Given the description of an element on the screen output the (x, y) to click on. 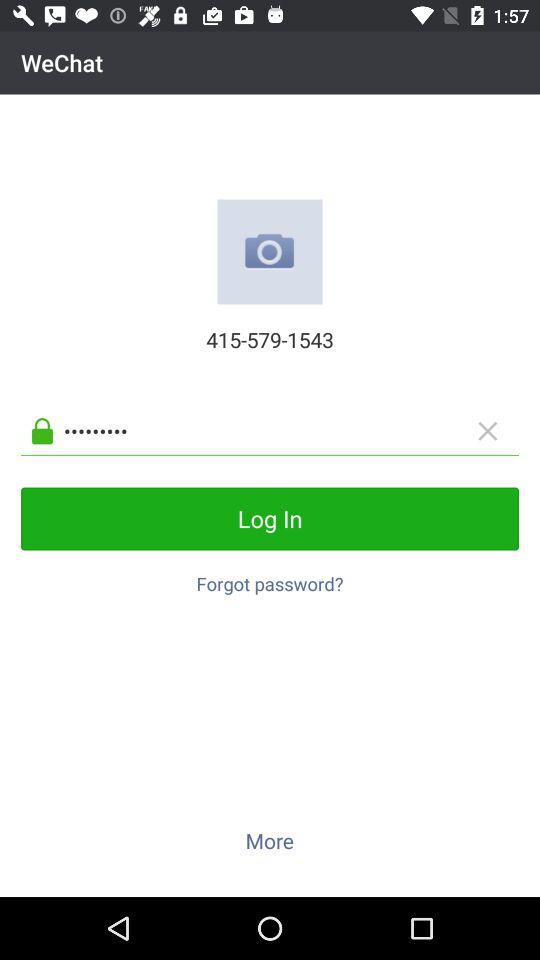
open more (269, 840)
